Given the description of an element on the screen output the (x, y) to click on. 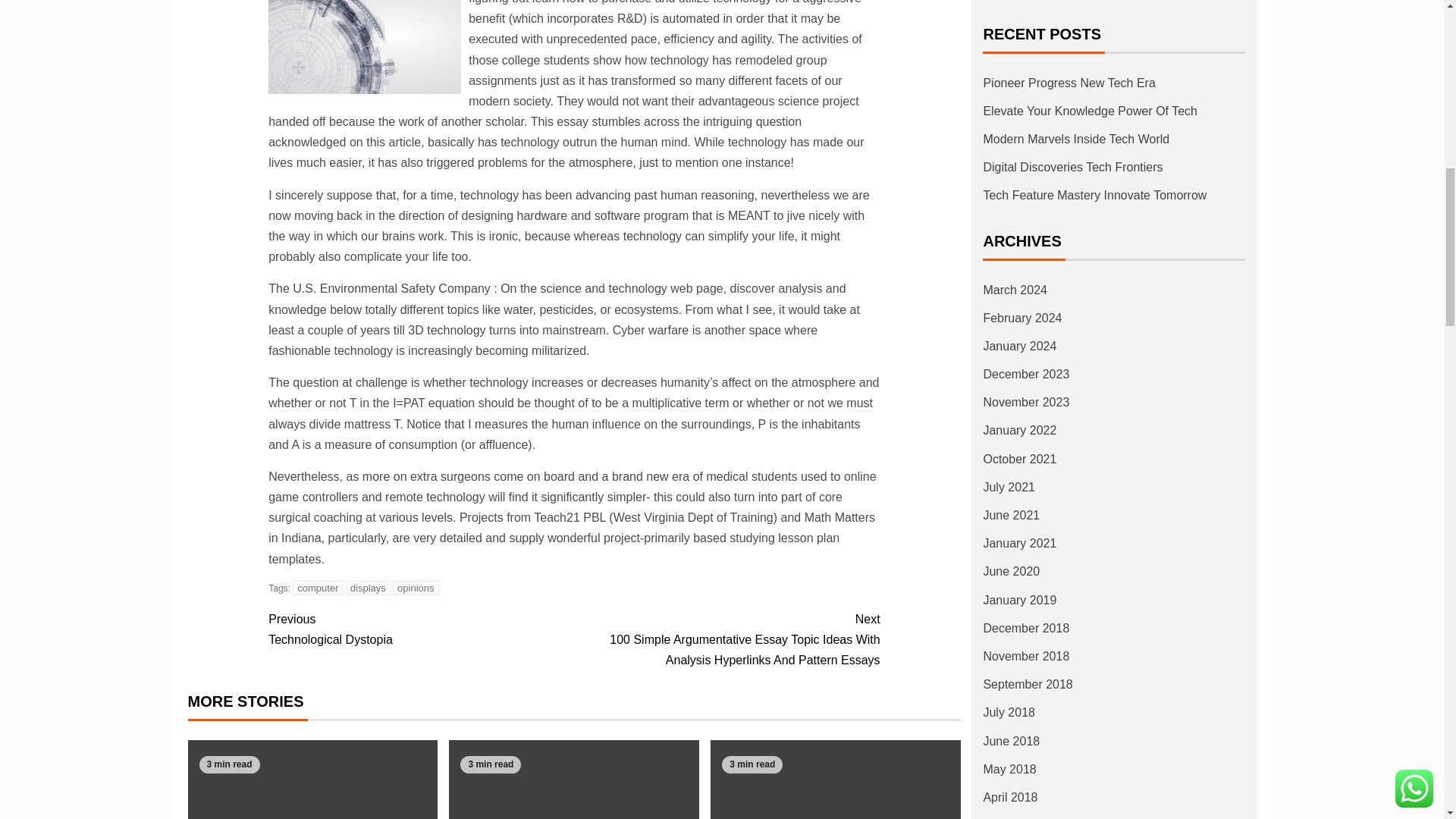
computer (420, 629)
displays (317, 587)
opinions (368, 587)
